Given the description of an element on the screen output the (x, y) to click on. 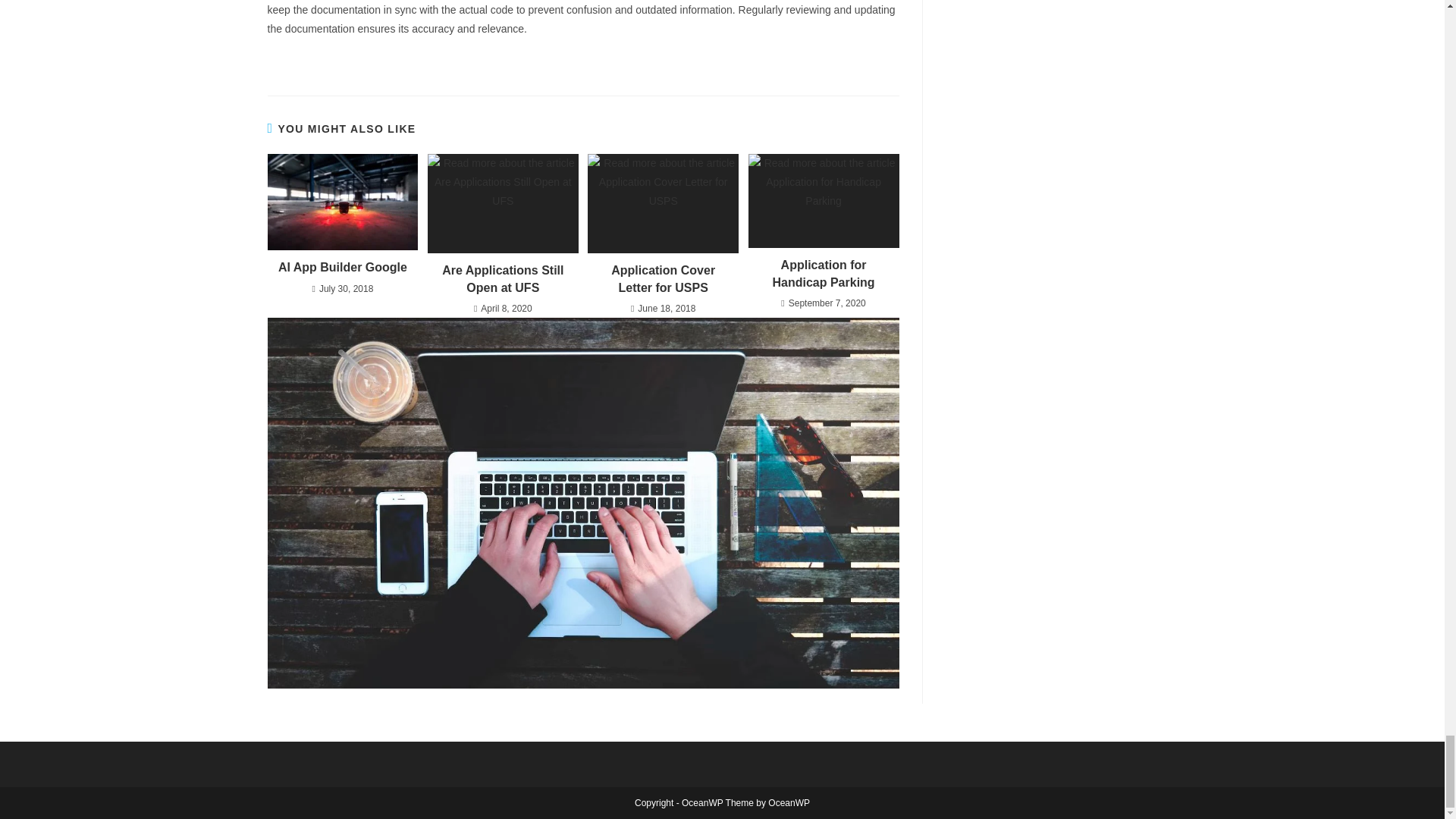
Are Applications Still Open at UFS (502, 279)
Application for Handicap Parking (823, 274)
Application Cover Letter for USPS (662, 279)
AI App Builder Google (342, 267)
